Given the description of an element on the screen output the (x, y) to click on. 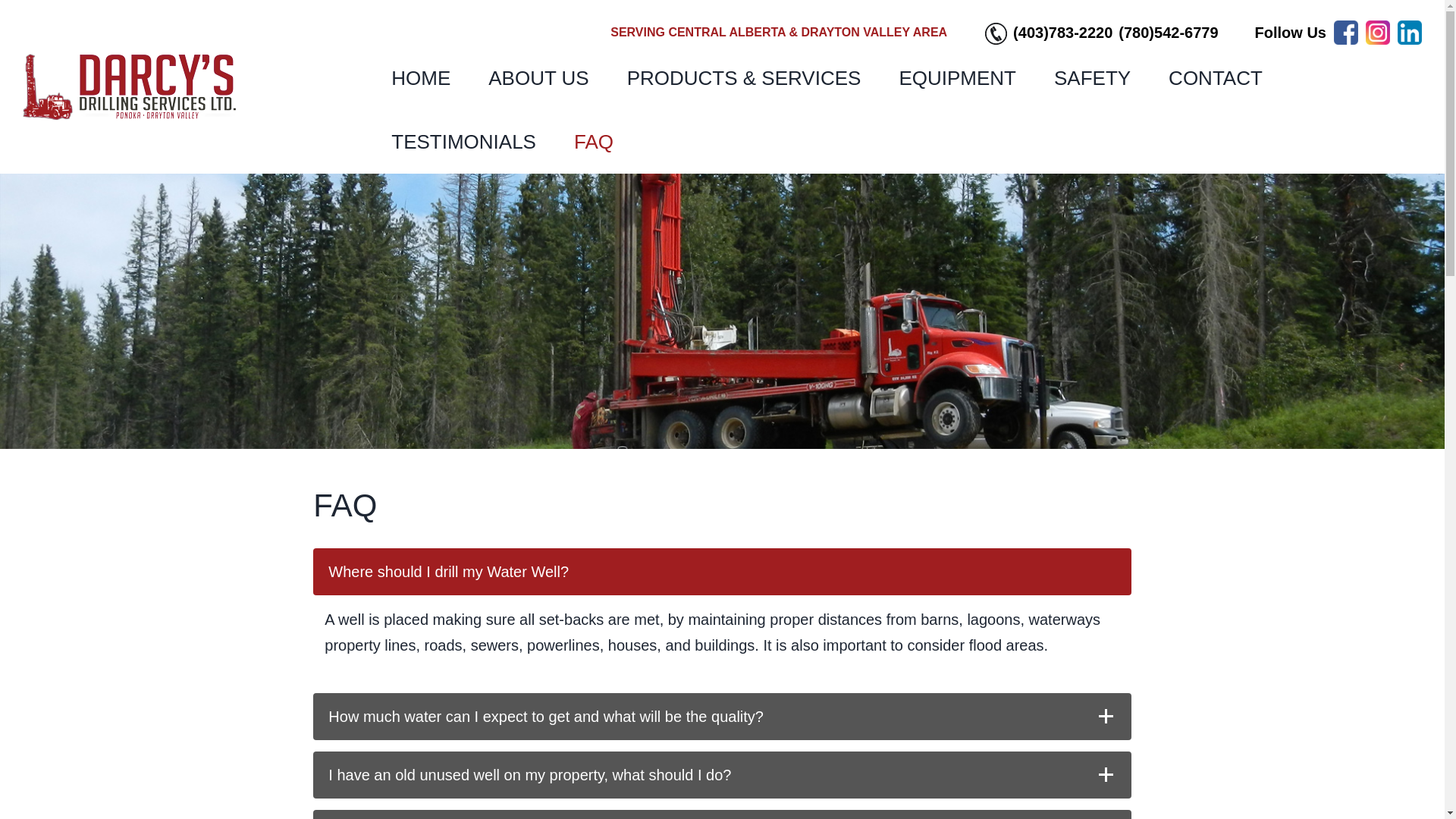
HOME (420, 77)
ABOUT US (537, 77)
